Given the description of an element on the screen output the (x, y) to click on. 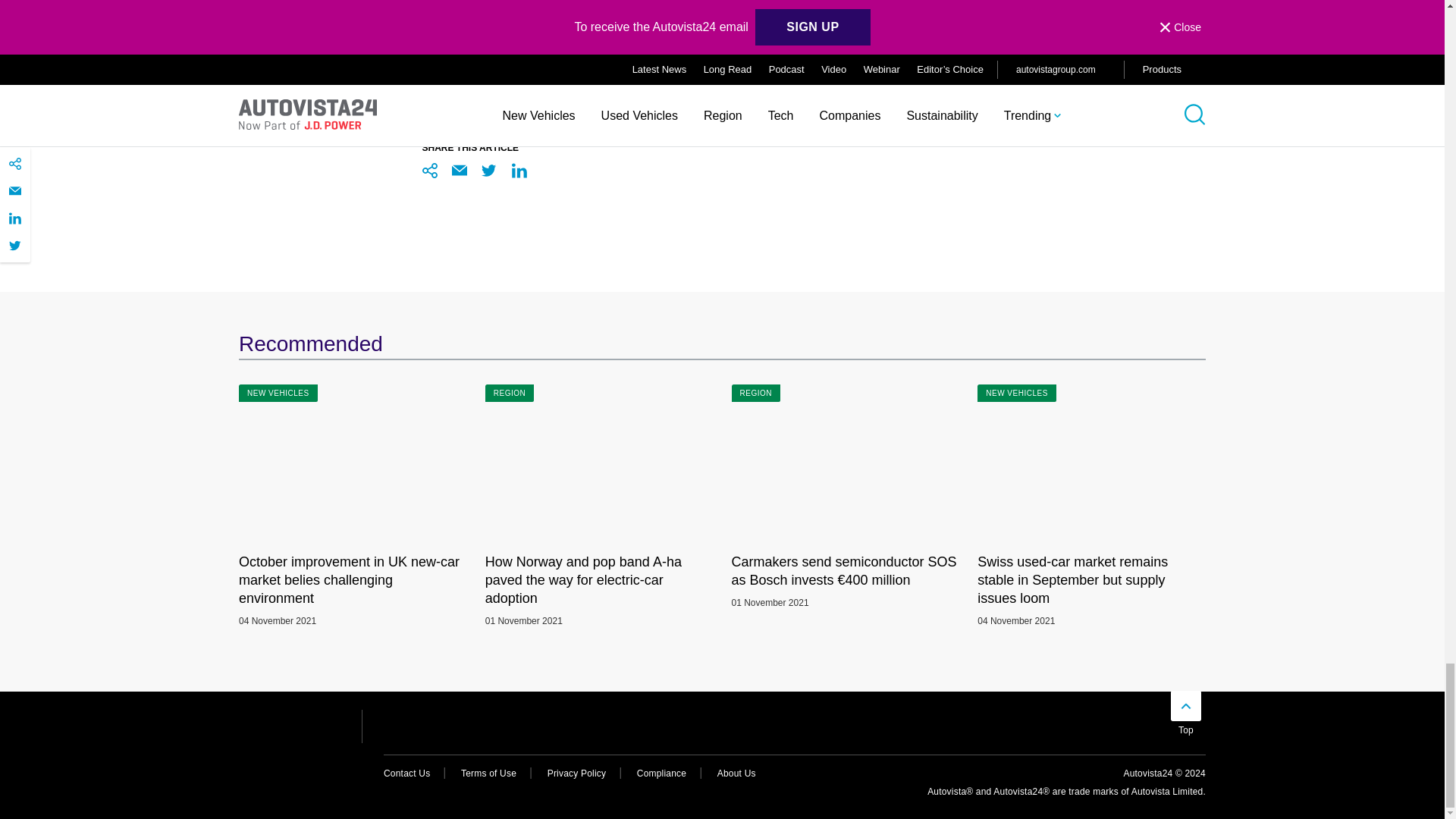
Top (1185, 730)
